Given the description of an element on the screen output the (x, y) to click on. 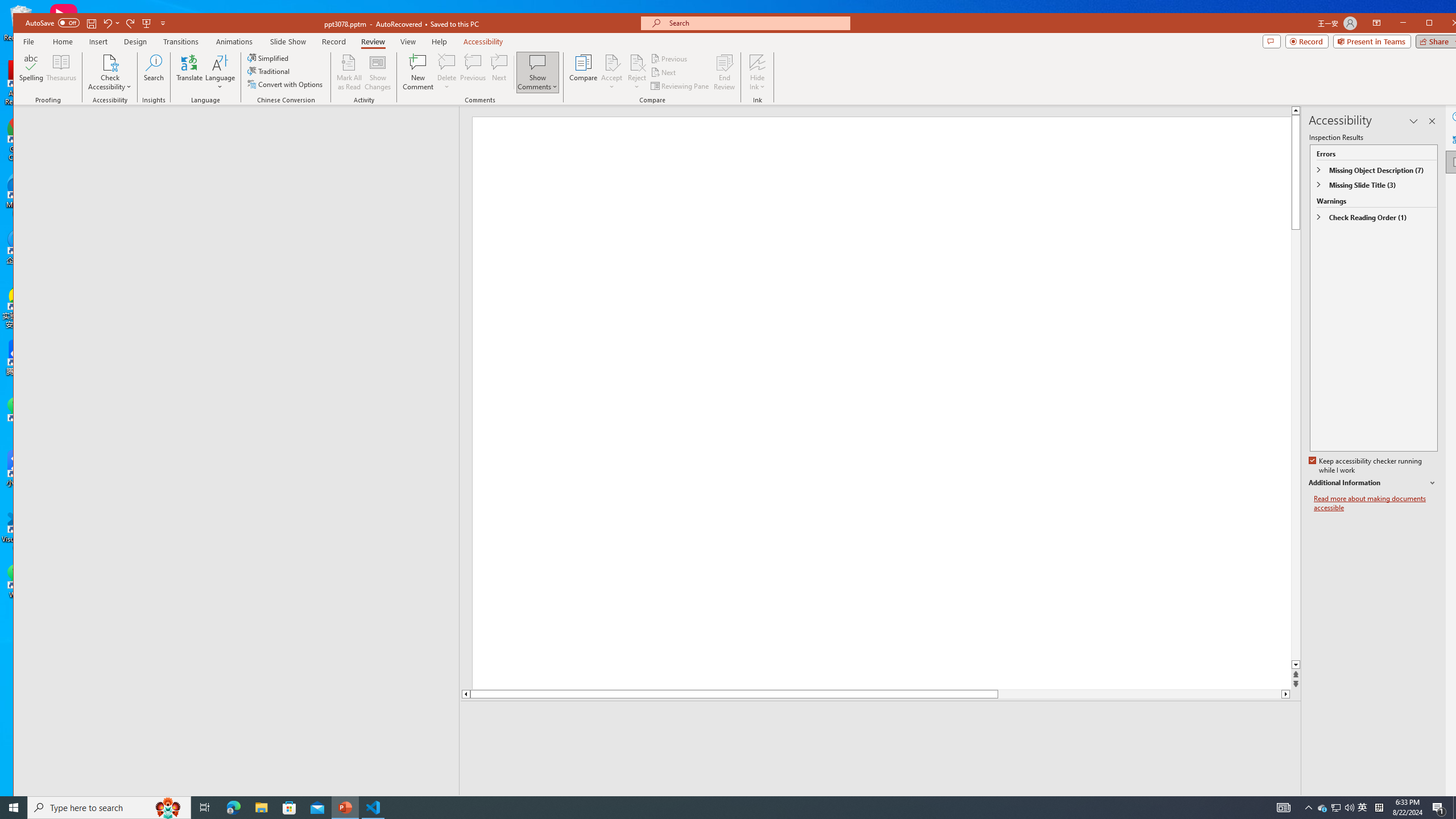
Traditional (270, 70)
Language (219, 72)
Slide Show Next On (1253, 802)
